Given the description of an element on the screen output the (x, y) to click on. 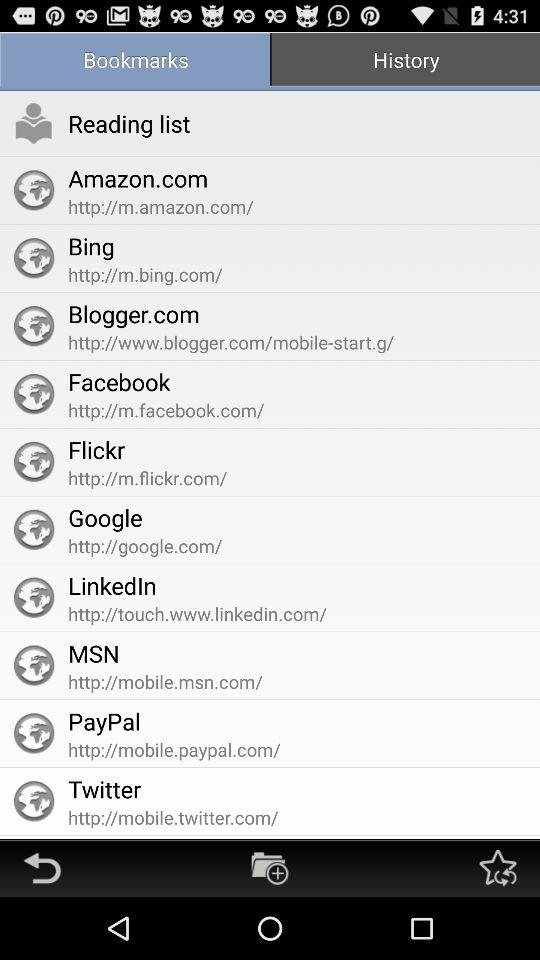
add bookmark (269, 868)
